Given the description of an element on the screen output the (x, y) to click on. 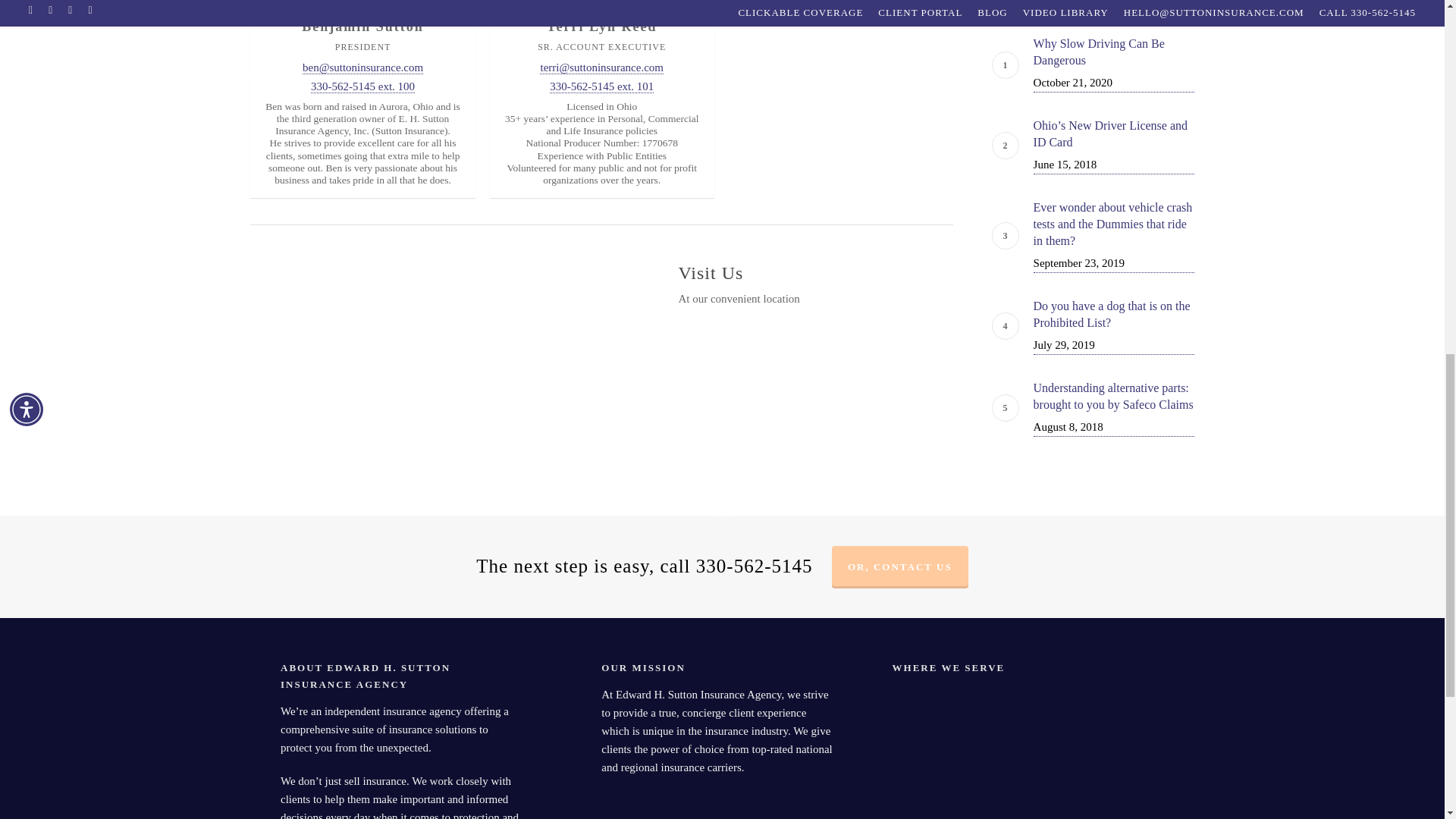
330-562-5145 ext. 100 (362, 86)
330-562-5145 ext. 101 (601, 86)
